Given the description of an element on the screen output the (x, y) to click on. 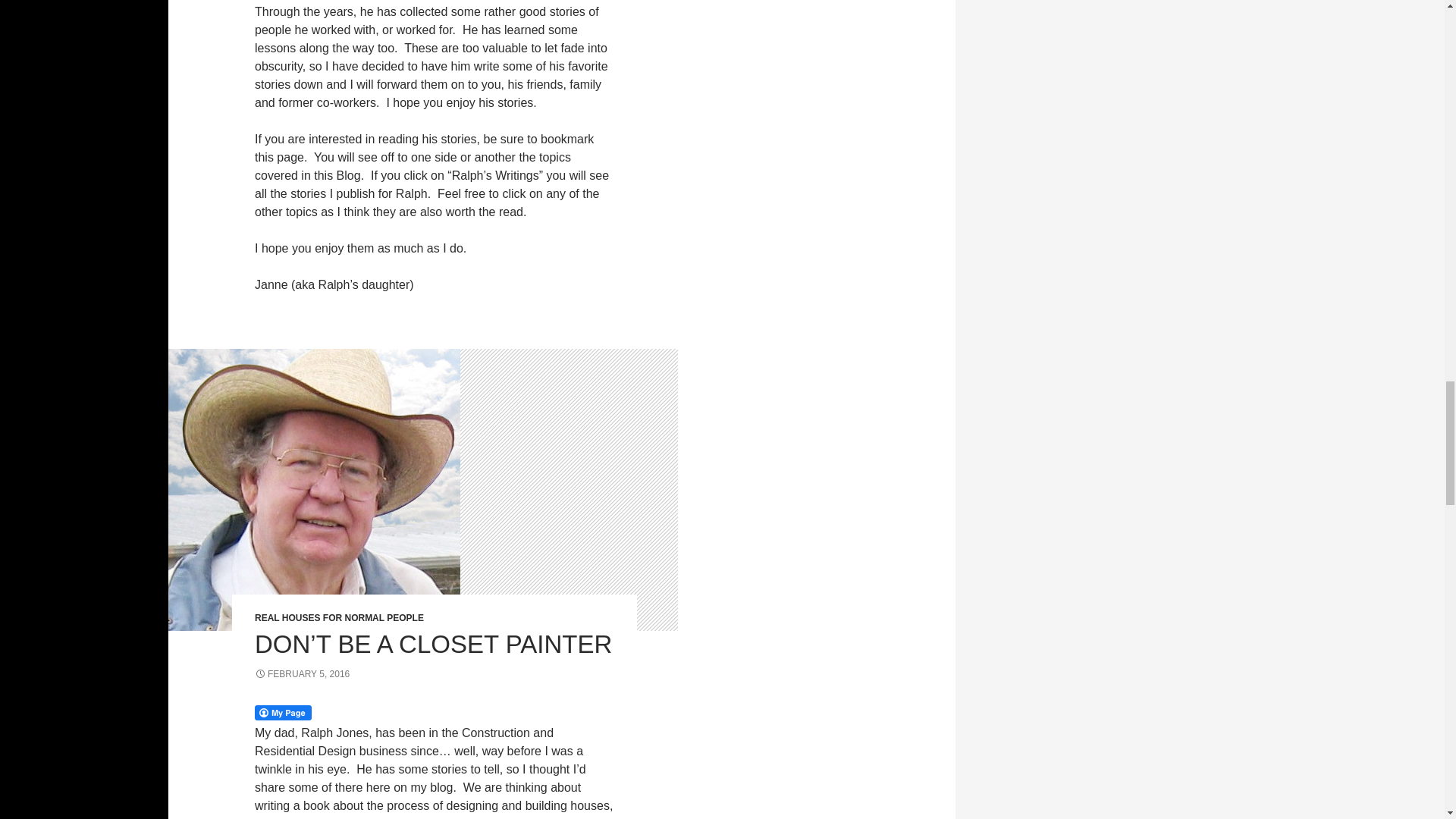
FEBRUARY 5, 2016 (301, 674)
REAL HOUSES FOR NORMAL PEOPLE (338, 617)
